Given the description of an element on the screen output the (x, y) to click on. 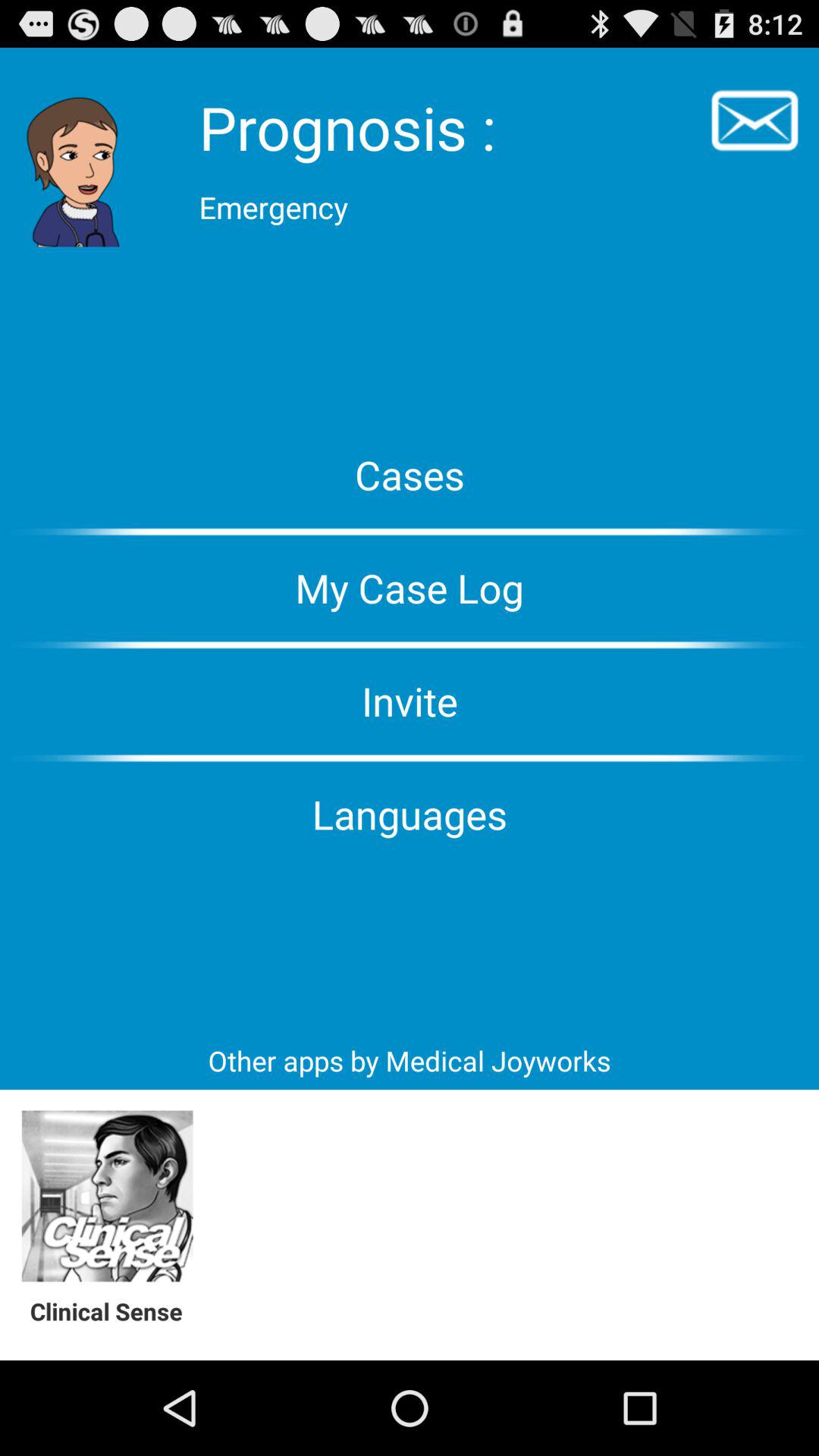
jump to the cases icon (409, 474)
